Given the description of an element on the screen output the (x, y) to click on. 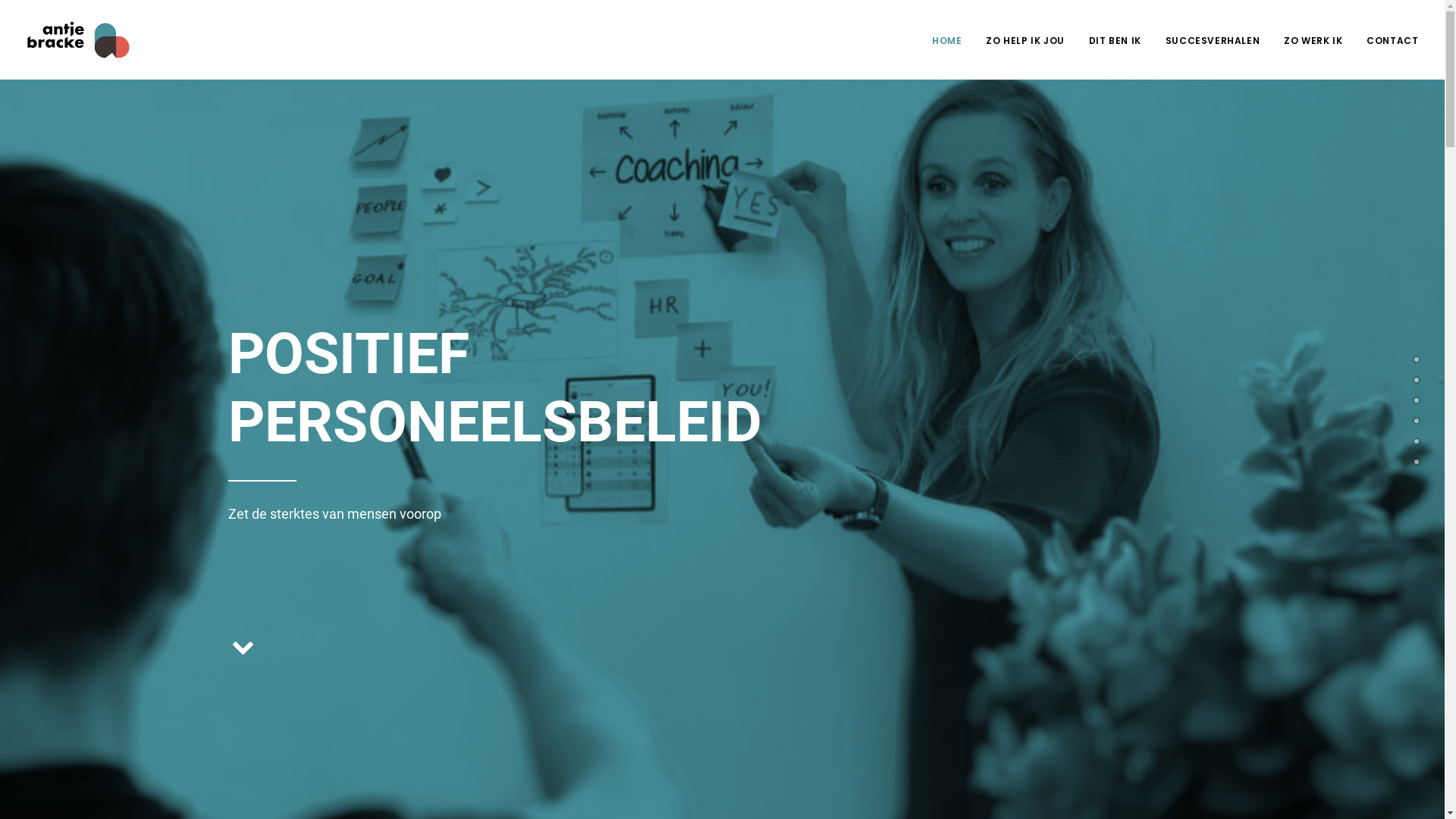
HOME Element type: text (951, 39)
ZO HELP IK JOU Element type: text (1024, 39)
CONTACT Element type: text (1386, 39)
DIT BEN IK Element type: text (1114, 39)
SUCCESVERHALEN Element type: text (1212, 39)
ZO WERK IK Element type: text (1312, 39)
